Given the description of an element on the screen output the (x, y) to click on. 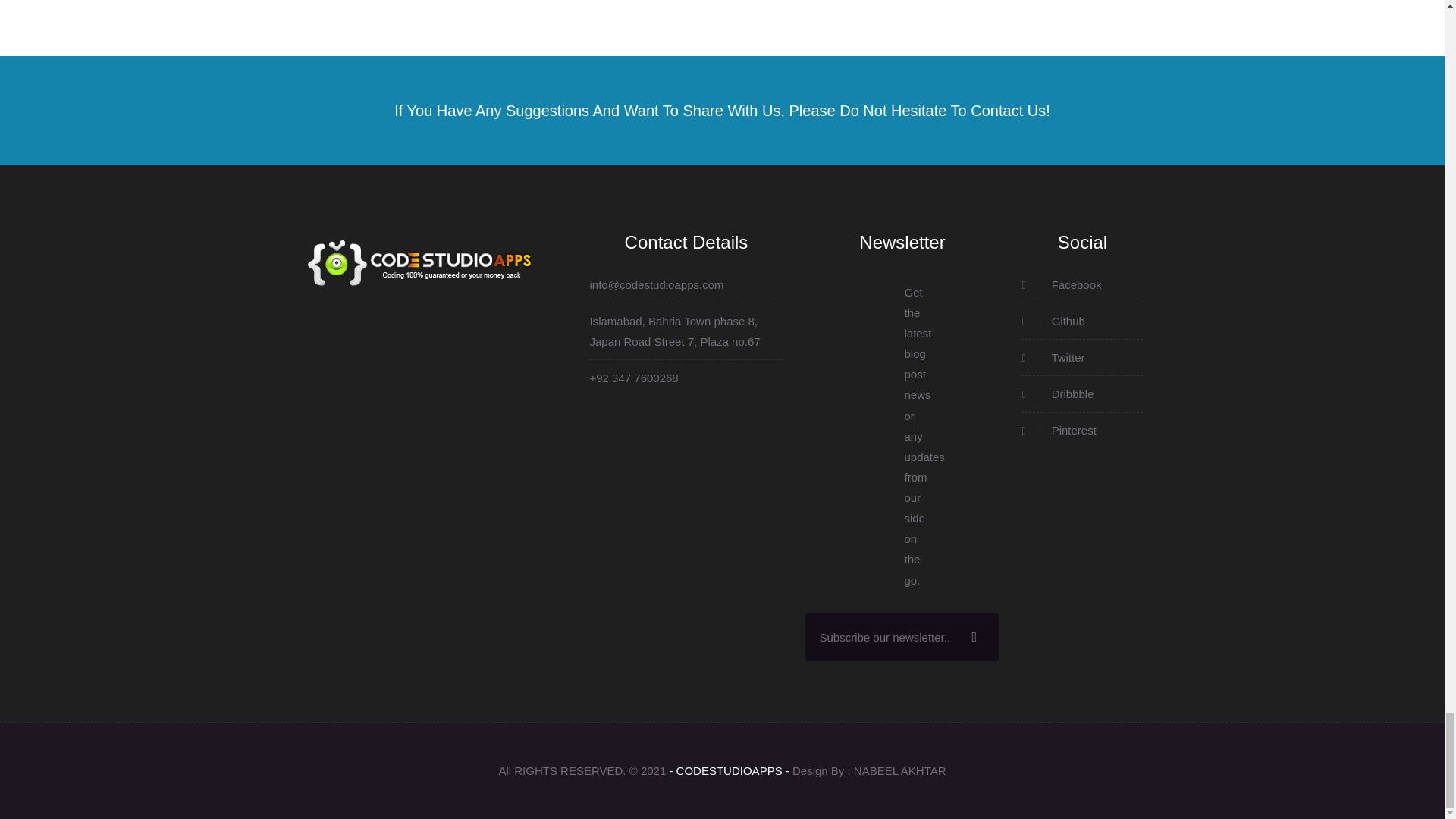
Facebook (1082, 284)
Pinterest (1082, 430)
- CODESTUDIOAPPS - (728, 770)
Github (1082, 321)
Twitter (1082, 357)
Dribbble (1082, 394)
